Given the description of an element on the screen output the (x, y) to click on. 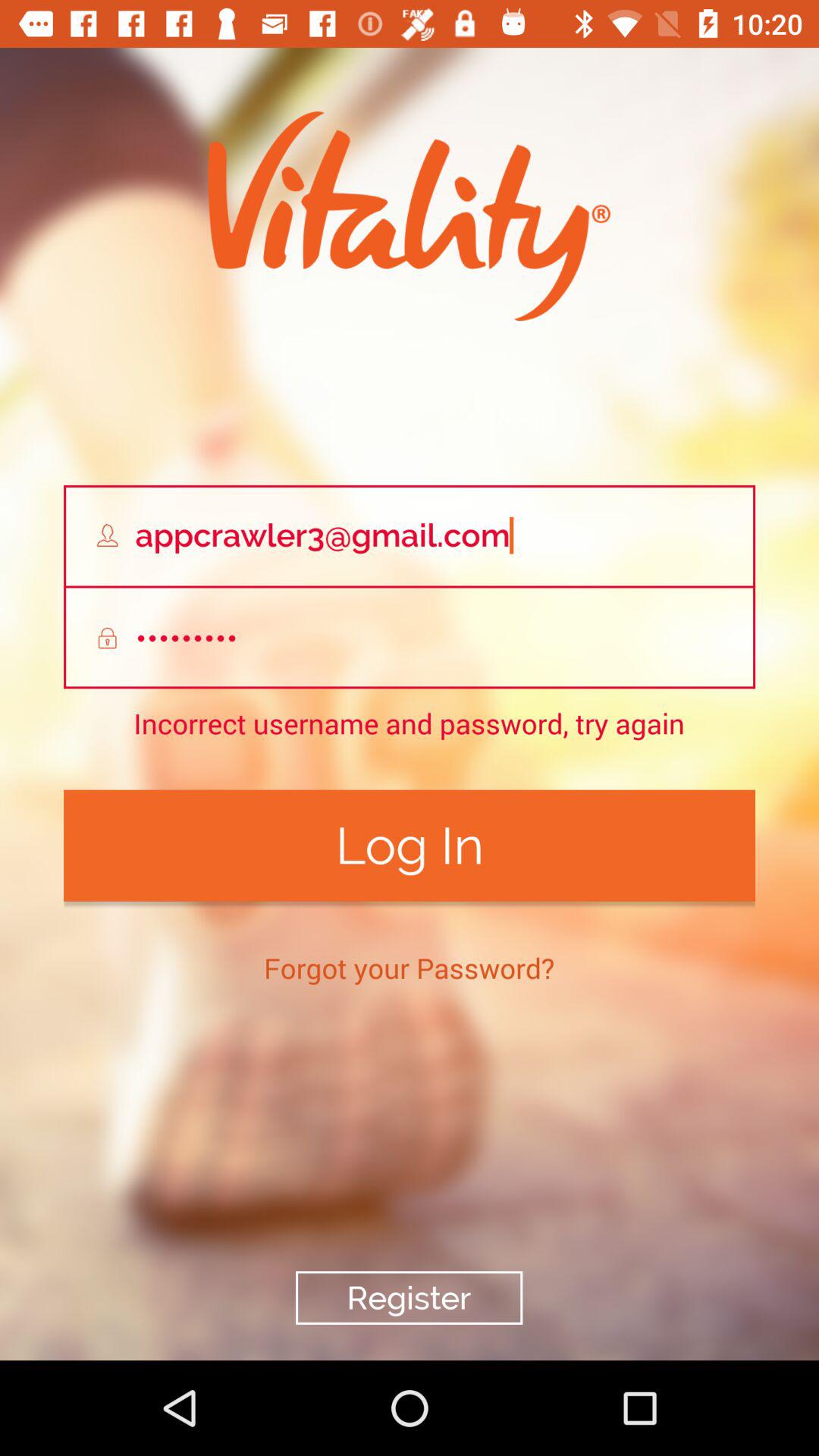
open item below incorrect username and item (409, 845)
